Given the description of an element on the screen output the (x, y) to click on. 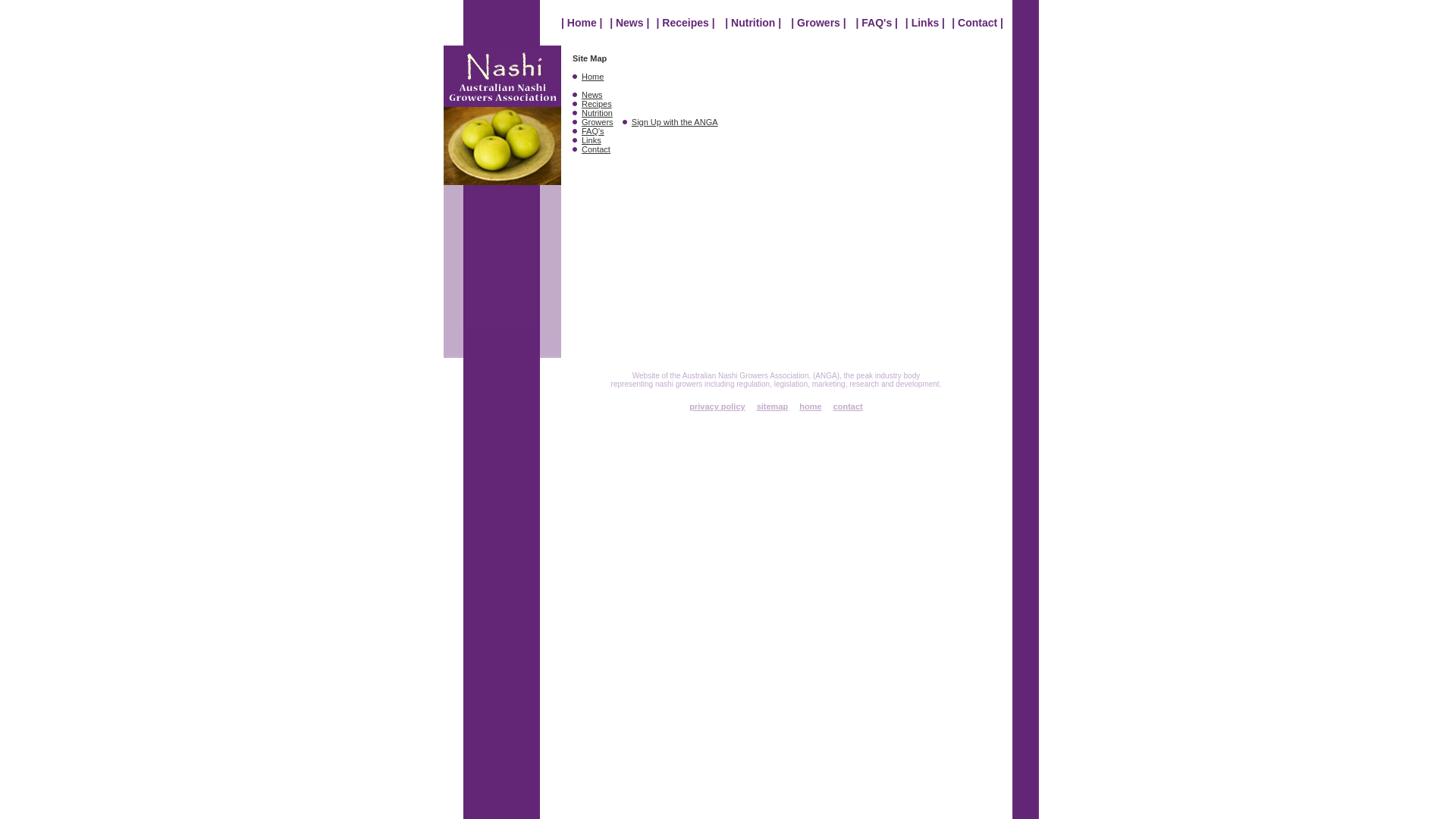
privacy policy Element type: text (716, 406)
sitemap Element type: text (772, 406)
| Contact | Element type: text (977, 22)
contact Element type: text (847, 406)
Growers Element type: text (597, 121)
Links Element type: text (591, 139)
| Growers | Element type: text (817, 22)
home Element type: text (810, 406)
Nutrition Element type: text (596, 112)
| News | Element type: text (629, 22)
News Element type: text (591, 94)
| Nutrition | Element type: text (752, 22)
FAQ's Element type: text (592, 130)
Contact Element type: text (595, 148)
Sign Up with the ANGA Element type: text (674, 121)
Recipes Element type: text (596, 103)
| FAQ's | Element type: text (876, 22)
| Receipes | Element type: text (685, 22)
| Links | Element type: text (924, 22)
| Home | Element type: text (581, 22)
Home Element type: text (592, 76)
